Given the description of an element on the screen output the (x, y) to click on. 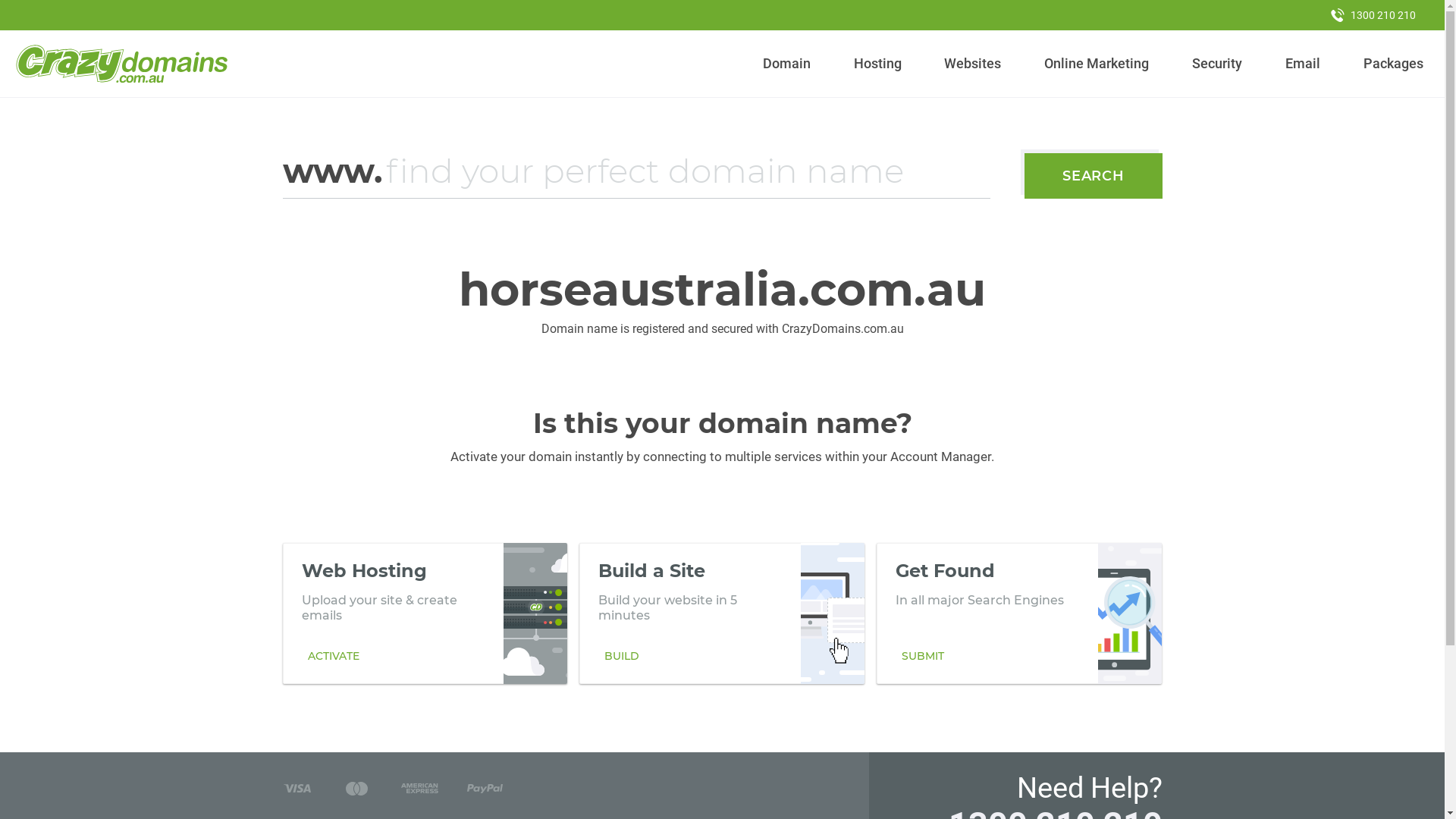
1300 210 210 Element type: text (1373, 15)
Hosting Element type: text (877, 63)
Web Hosting
Upload your site & create emails
ACTIVATE Element type: text (424, 613)
Packages Element type: text (1392, 63)
Email Element type: text (1302, 63)
Websites Element type: text (972, 63)
SEARCH Element type: text (1092, 175)
Get Found
In all major Search Engines
SUBMIT Element type: text (1018, 613)
Domain Element type: text (786, 63)
Security Element type: text (1217, 63)
Online Marketing Element type: text (1096, 63)
Build a Site
Build your website in 5 minutes
BUILD Element type: text (721, 613)
